Given the description of an element on the screen output the (x, y) to click on. 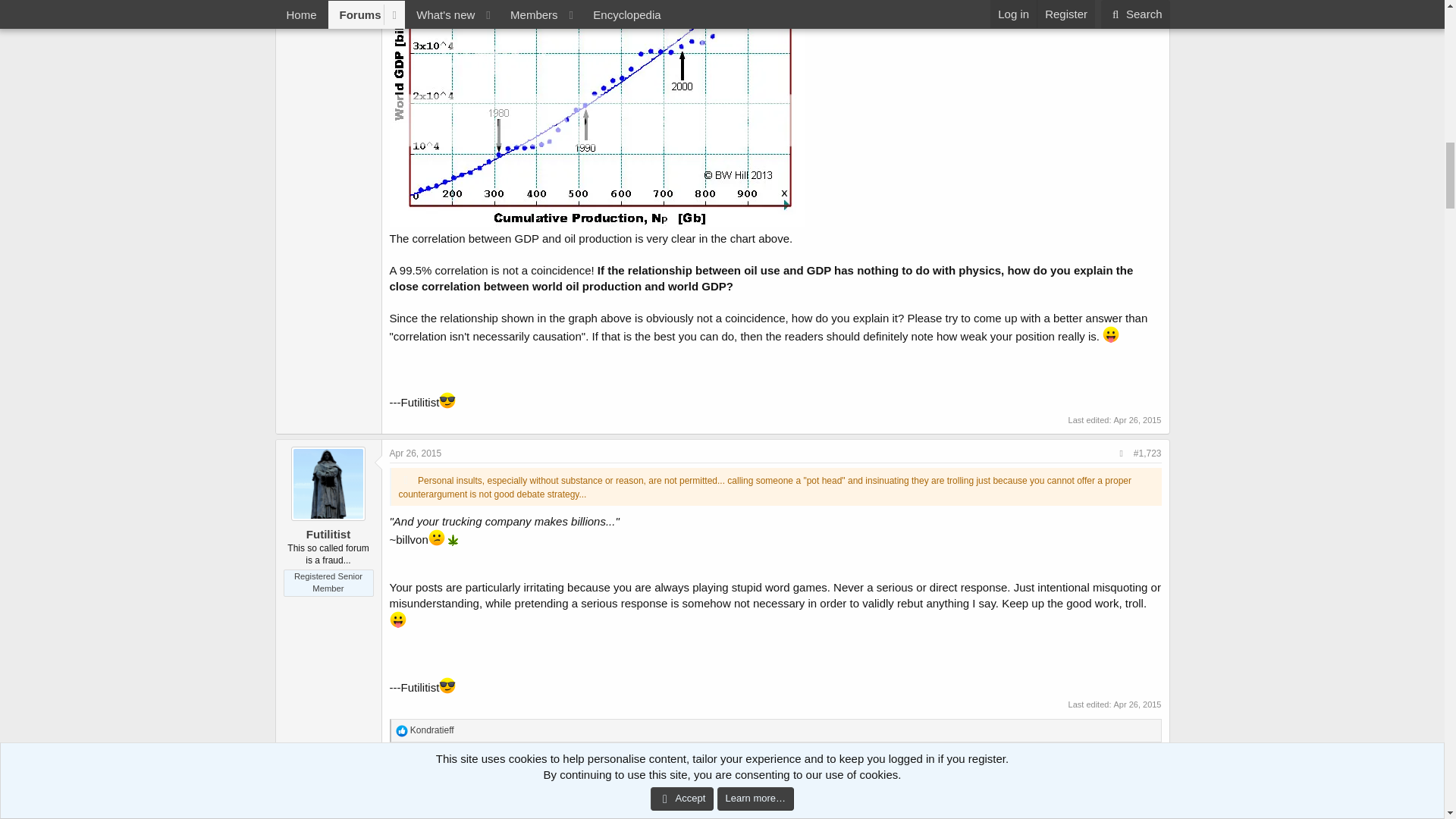
Cool    :cool: (447, 400)
Apr 26, 2015 at 7:32 AM (1136, 420)
Apr 26, 2015 at 8:11 AM (416, 452)
Stick Out Tongue    :p (1110, 334)
